Given the description of an element on the screen output the (x, y) to click on. 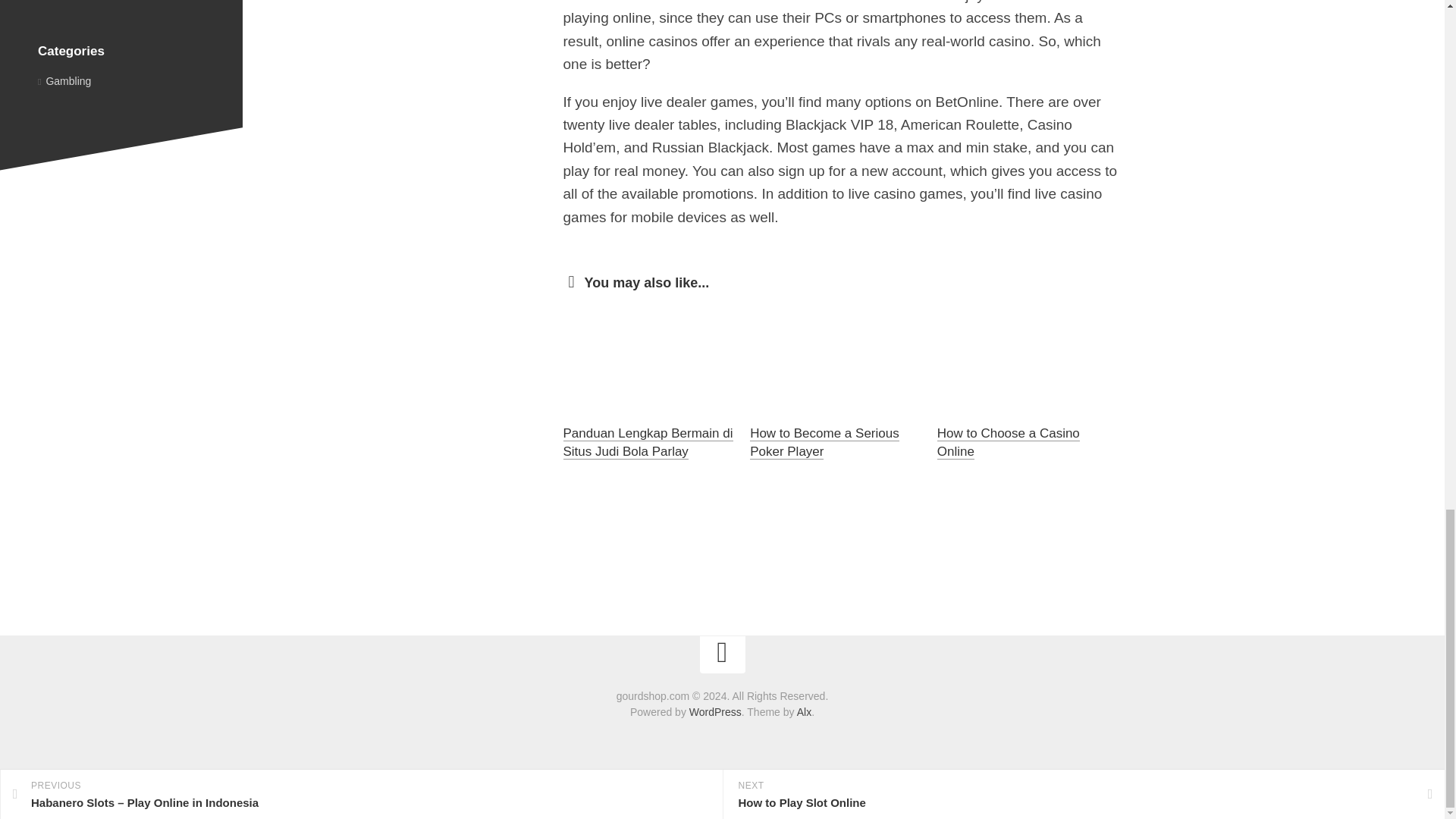
Panduan Lengkap Bermain di Situs Judi Bola Parlay (647, 441)
How to Become a Serious Poker Player (824, 441)
How to Choose a Casino Online (1008, 441)
